Given the description of an element on the screen output the (x, y) to click on. 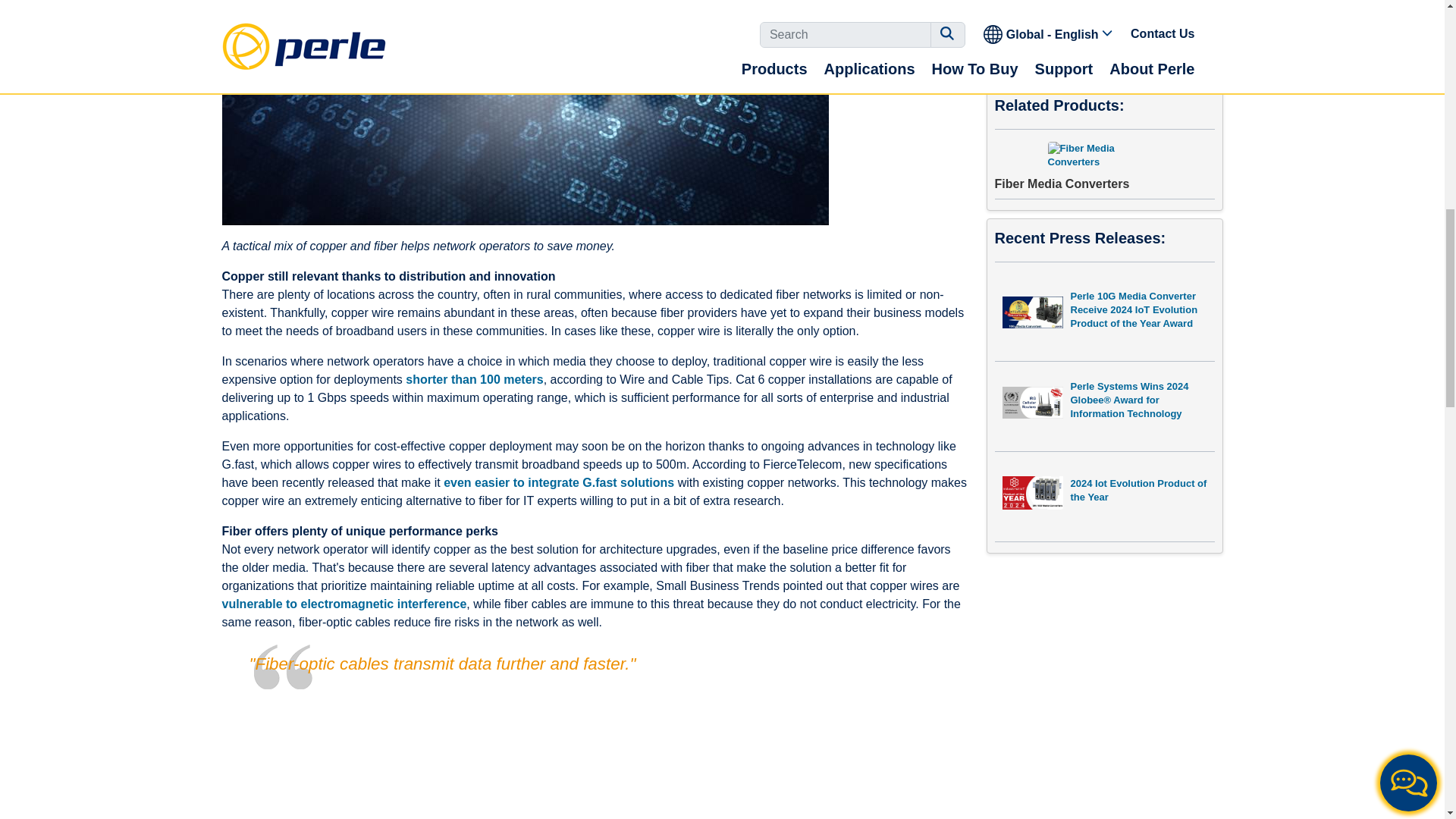
vulnerable to electromagnetic interference (590, 612)
even easier to integrate G.fast solutions (559, 481)
shorter than 100 meters (474, 379)
